Given the description of an element on the screen output the (x, y) to click on. 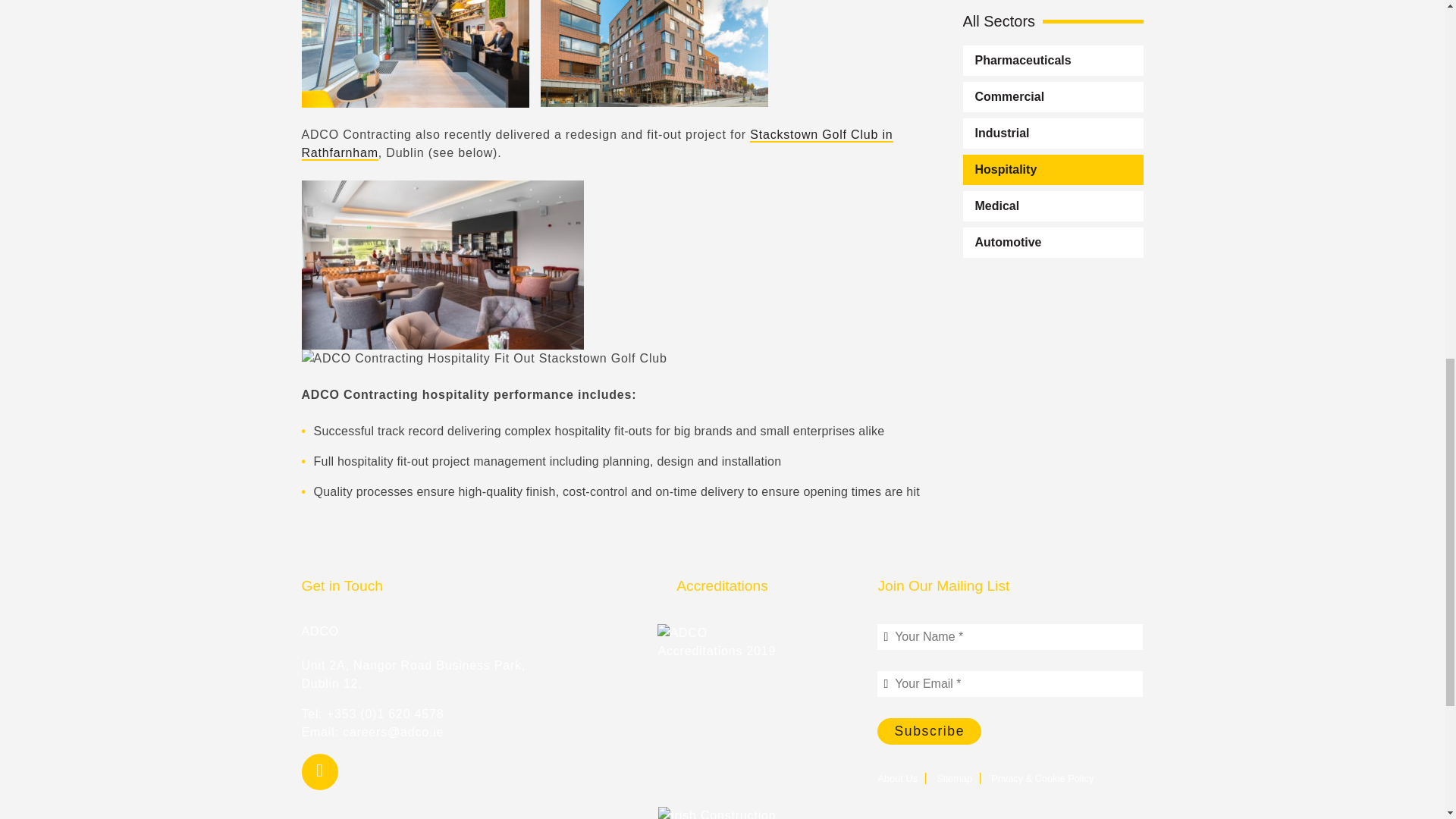
Subscribe (929, 731)
